Given the description of an element on the screen output the (x, y) to click on. 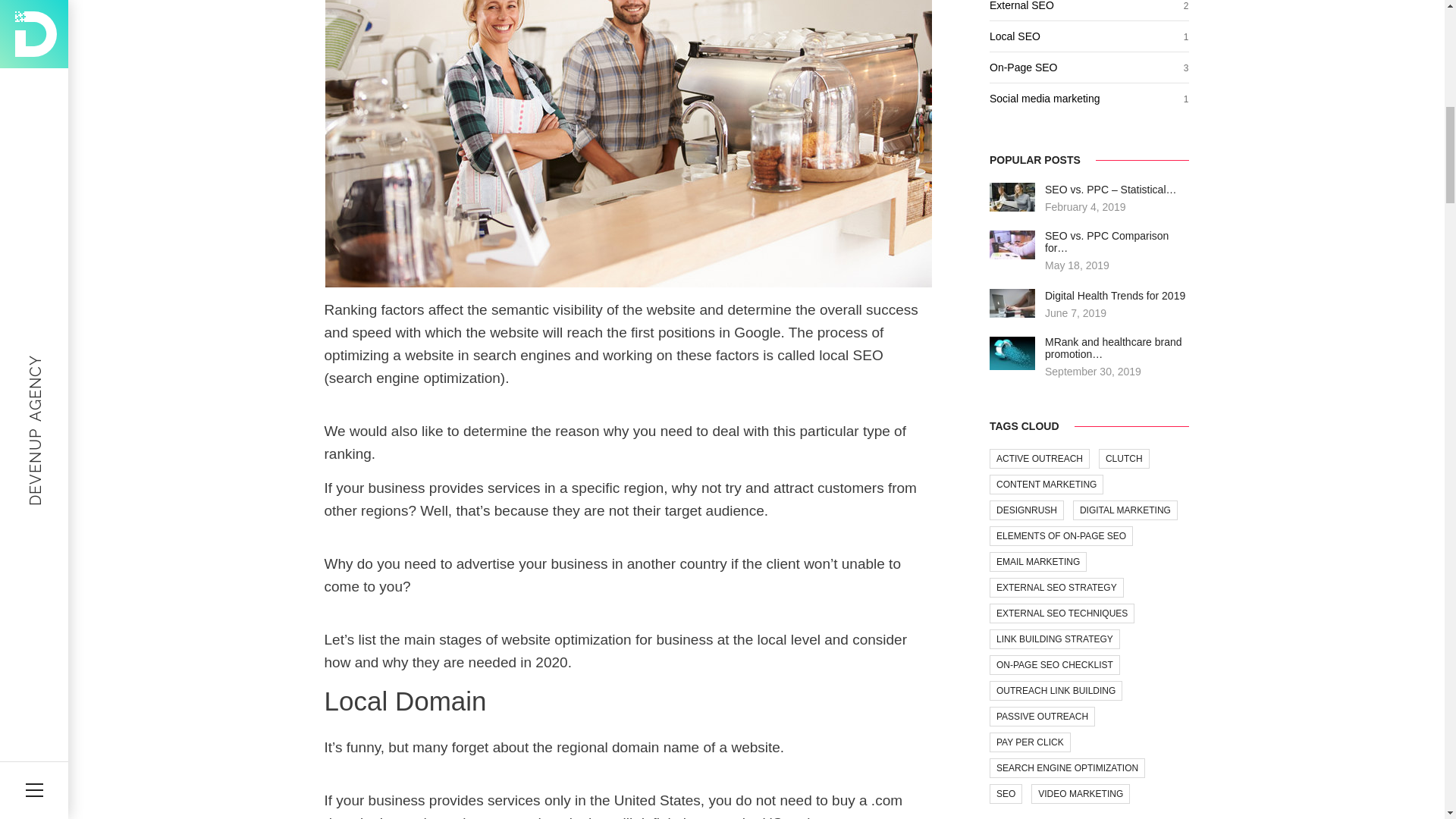
Local SEO (1015, 36)
Digital Health Trends for 2019 (1115, 295)
On-Page SEO (1024, 67)
ACTIVE OUTREACH (1039, 458)
Social media marketing (1045, 98)
External SEO (1022, 5)
CLUTCH (1124, 458)
